Given the description of an element on the screen output the (x, y) to click on. 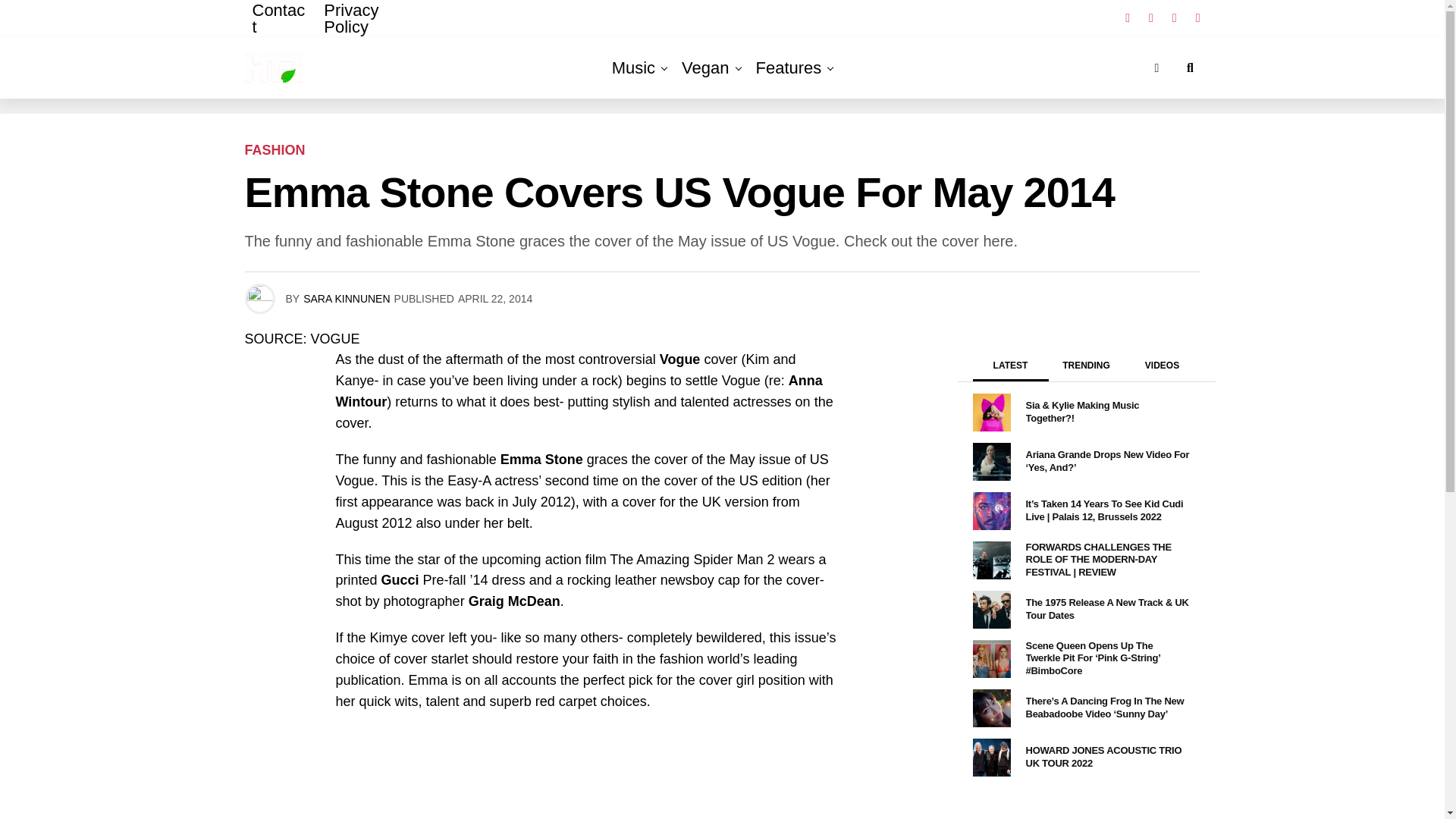
LATEST (1010, 370)
Features (788, 67)
Music (633, 67)
Privacy Policy (374, 28)
Contact (279, 28)
FASHION (274, 150)
TRENDING (1086, 369)
Posts by Sara Kinnunen (346, 298)
Vegan (705, 67)
SARA KINNUNEN (346, 298)
